Given the description of an element on the screen output the (x, y) to click on. 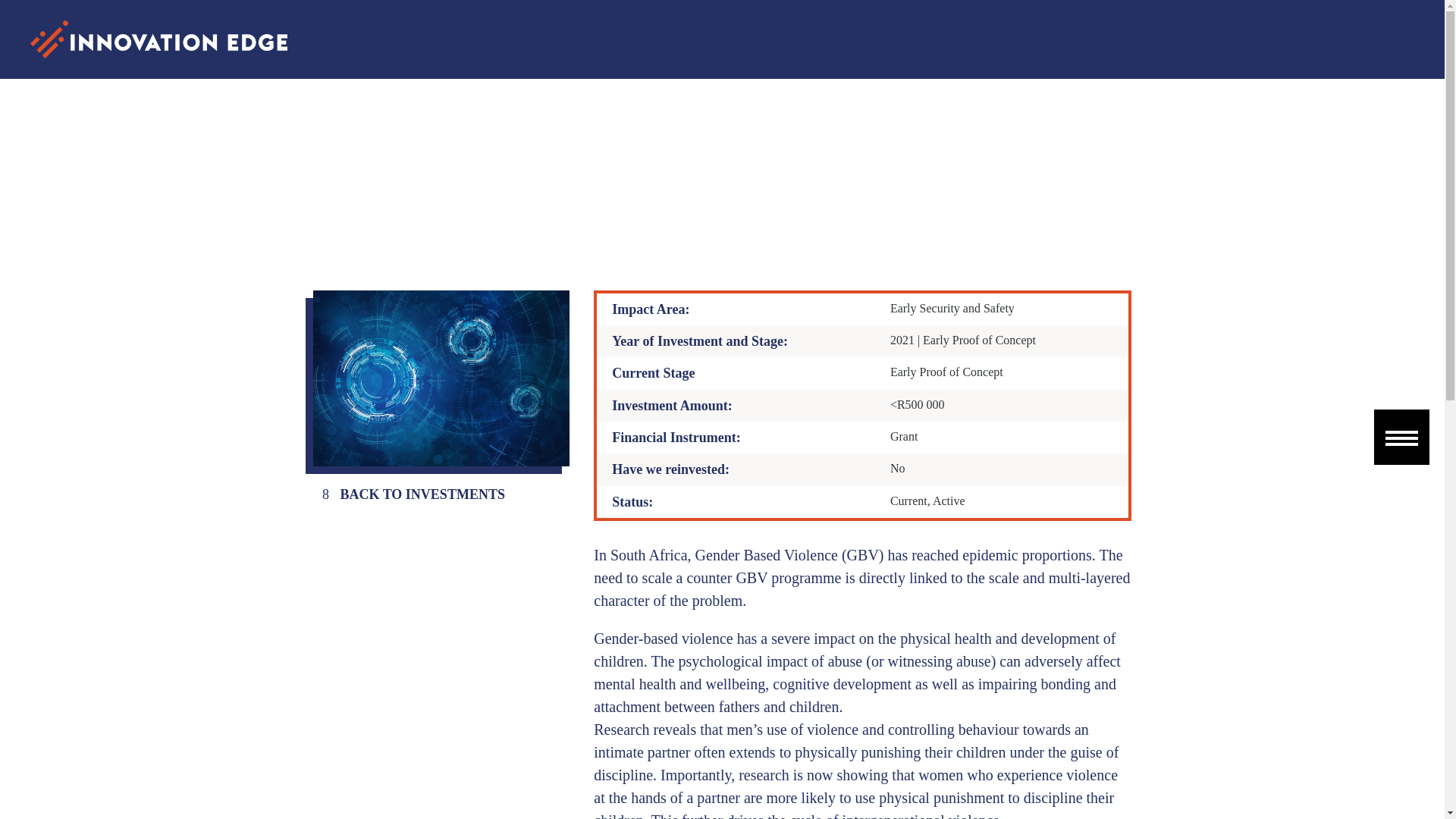
ecd-measurement-hub (441, 378)
BACK TO INVESTMENTS (413, 493)
IE-Logo (158, 39)
